Given the description of an element on the screen output the (x, y) to click on. 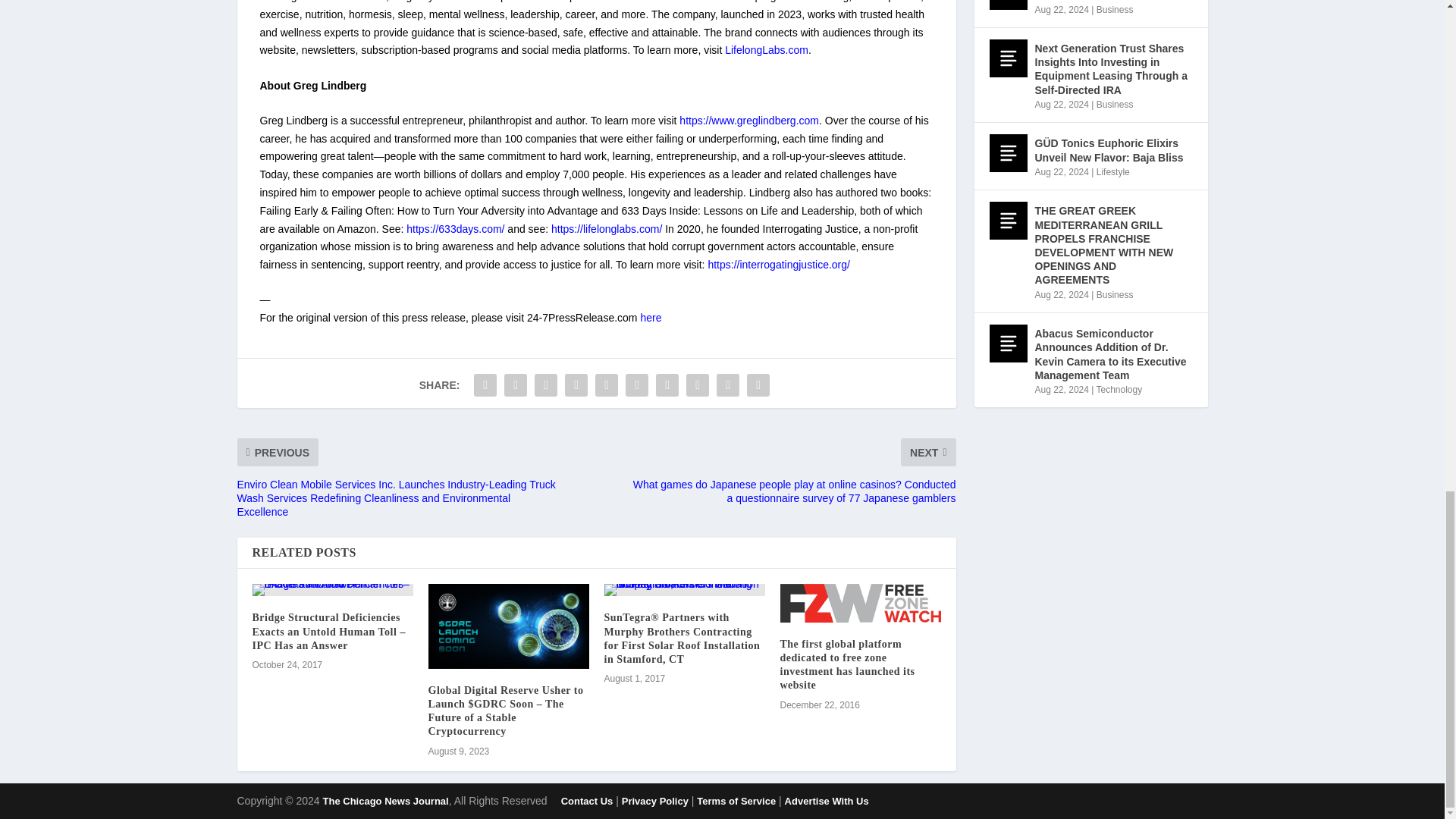
LifelongLabs.com (766, 50)
here (650, 317)
